Given the description of an element on the screen output the (x, y) to click on. 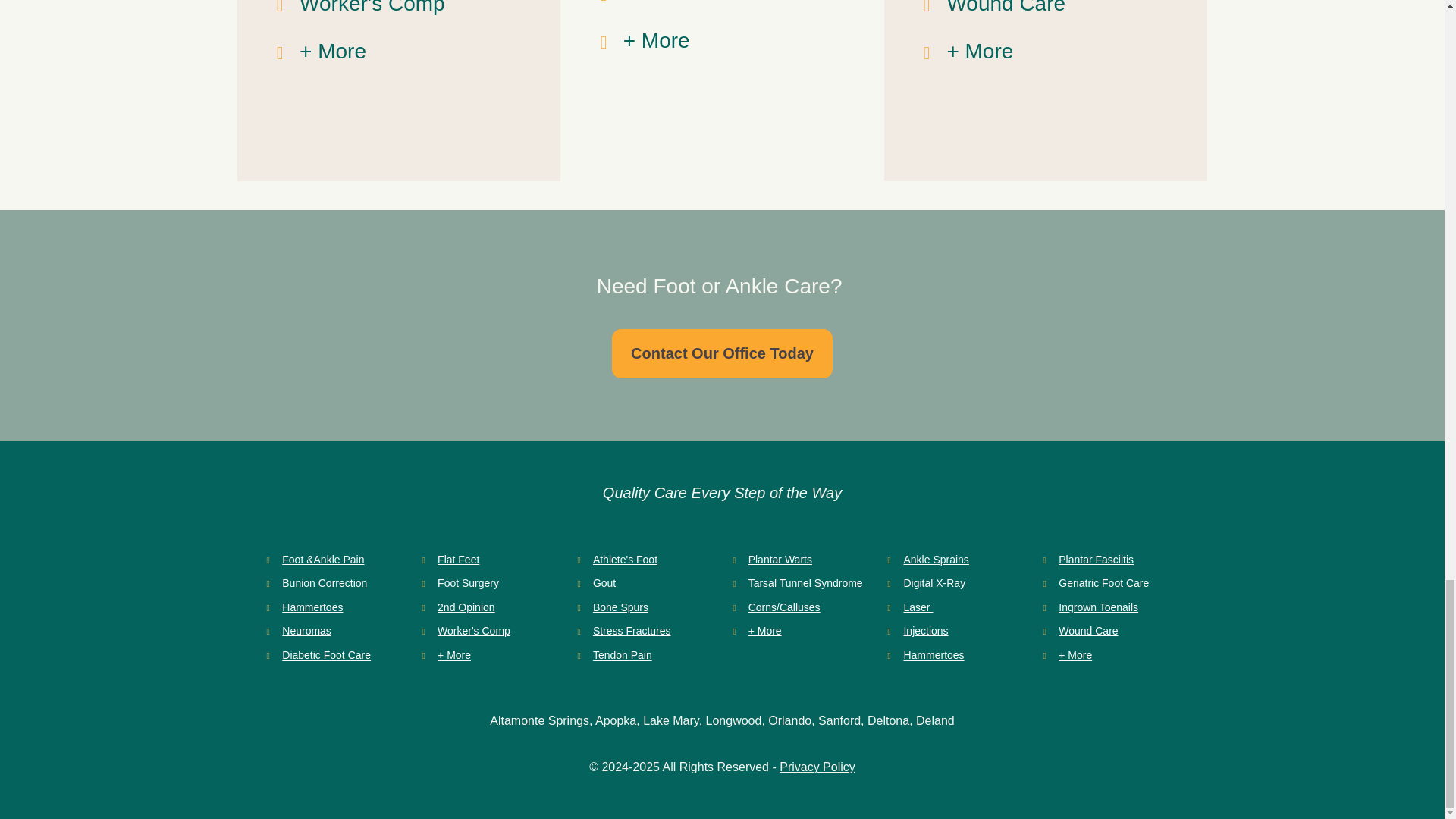
Contact Our Office Today (721, 353)
Neuromas (306, 630)
2nd Opinion (466, 607)
Diabetic Foot Care (326, 654)
Foot Surgery (468, 582)
Plantar Warts (780, 559)
Flat Feet (458, 559)
Worker's Comp (474, 630)
Stress Fractures (631, 630)
Athlete's Foot (625, 559)
